Given the description of an element on the screen output the (x, y) to click on. 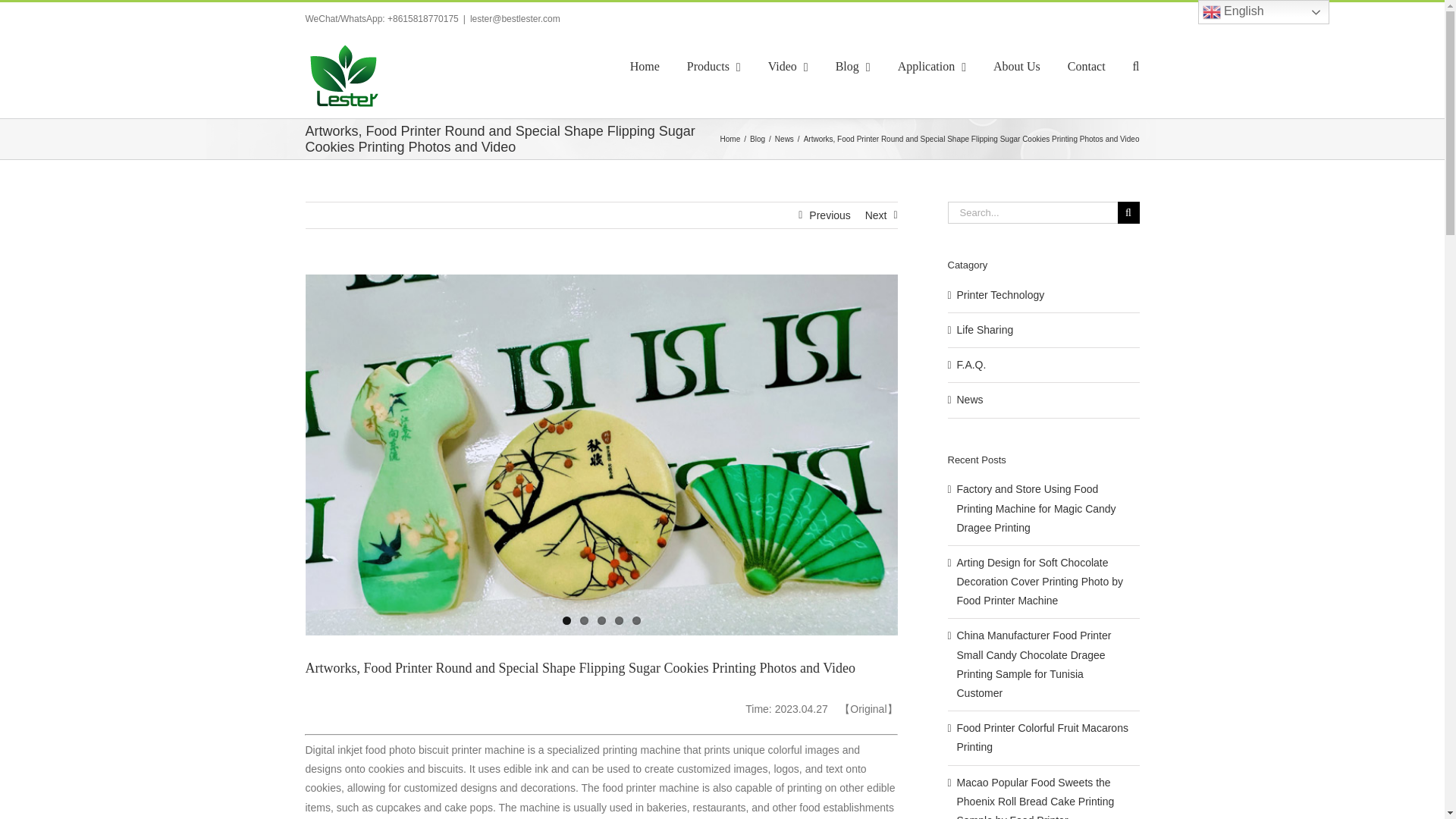
Blog (852, 66)
Search (1136, 66)
Home (644, 66)
Video (788, 66)
Products (714, 66)
